Given the description of an element on the screen output the (x, y) to click on. 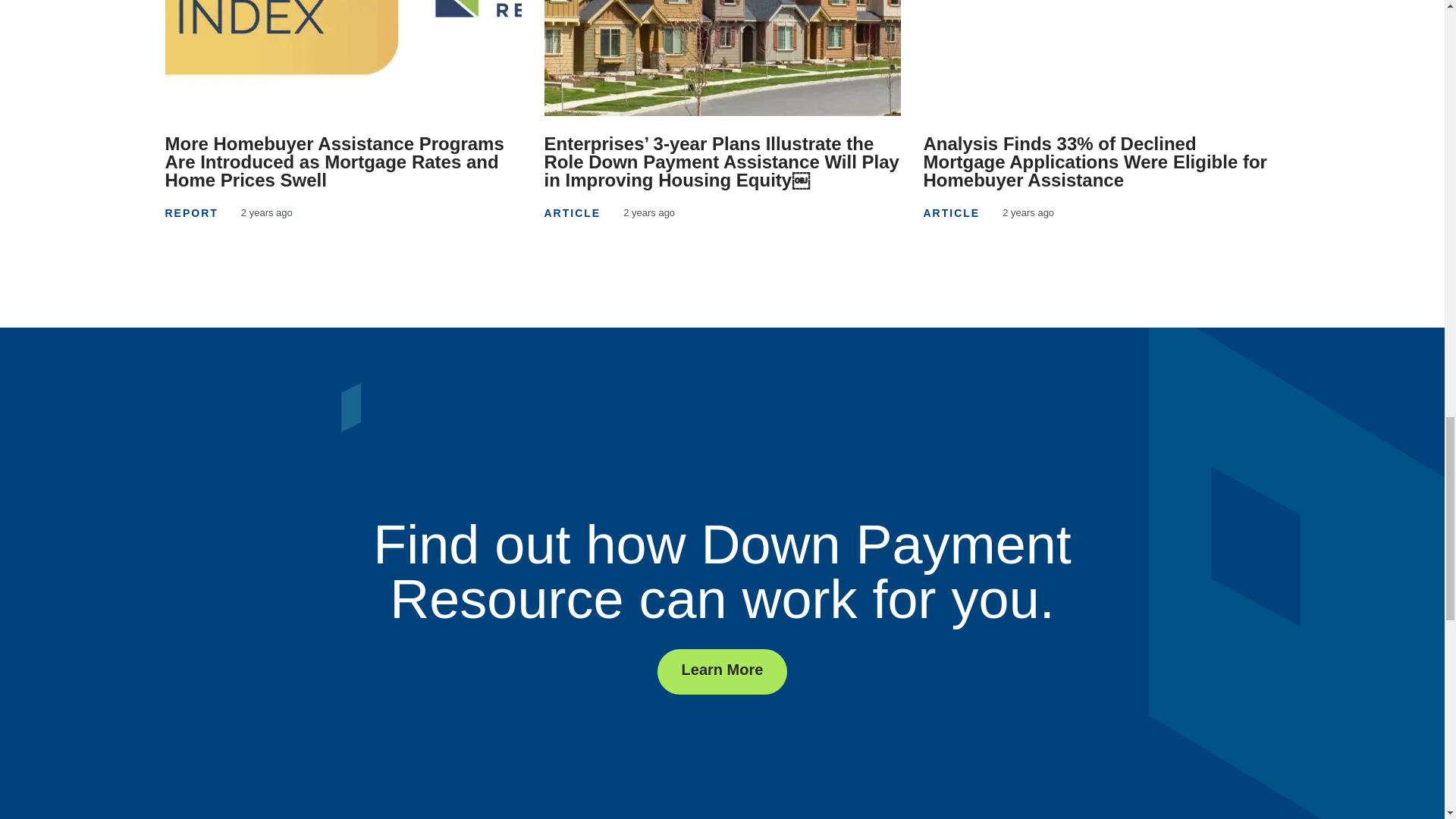
Learn More (722, 671)
